Given the description of an element on the screen output the (x, y) to click on. 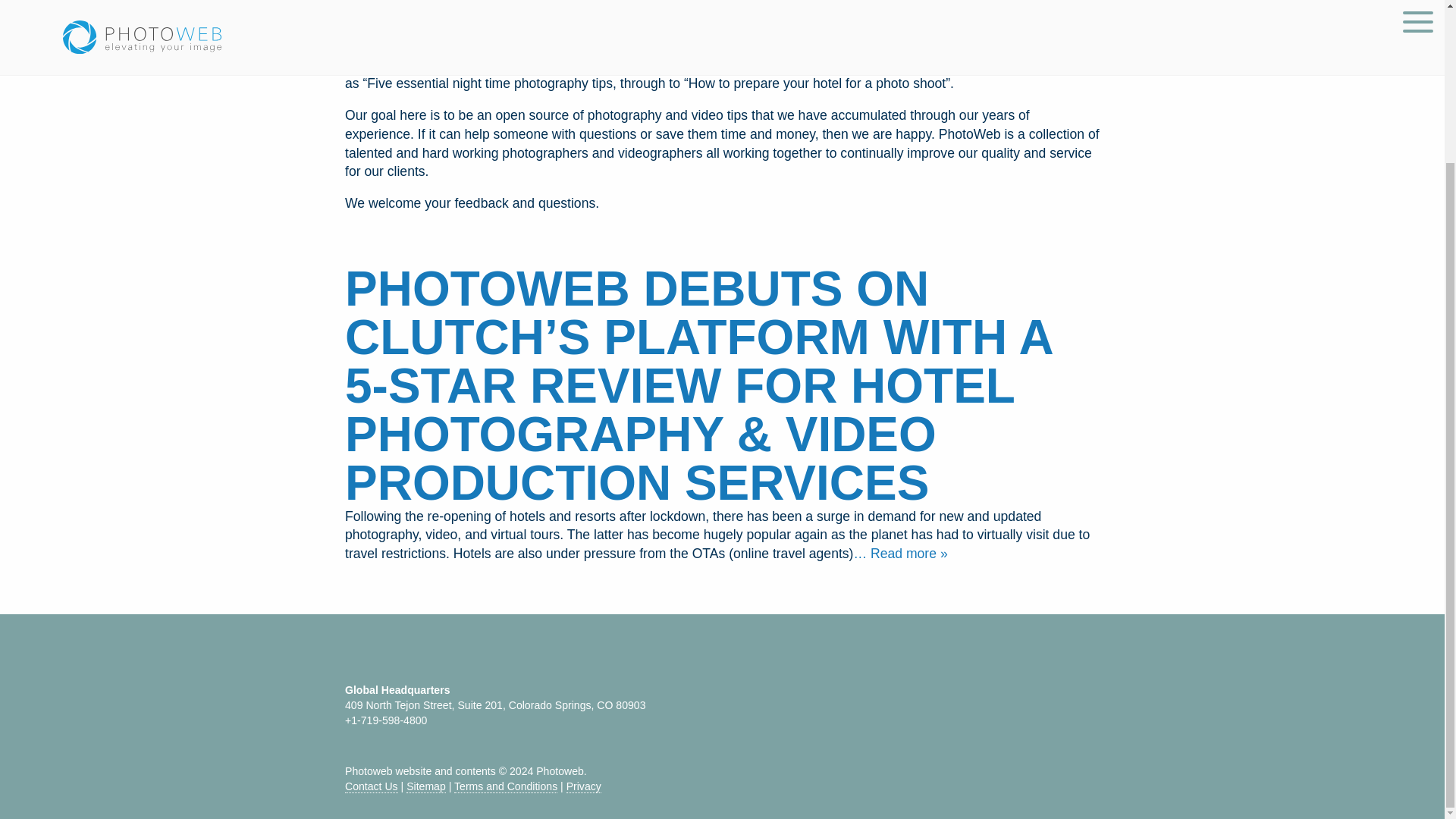
Terms and Conditions (505, 786)
Sitemap (425, 786)
Contact Us (371, 786)
Privacy (583, 786)
